Given the description of an element on the screen output the (x, y) to click on. 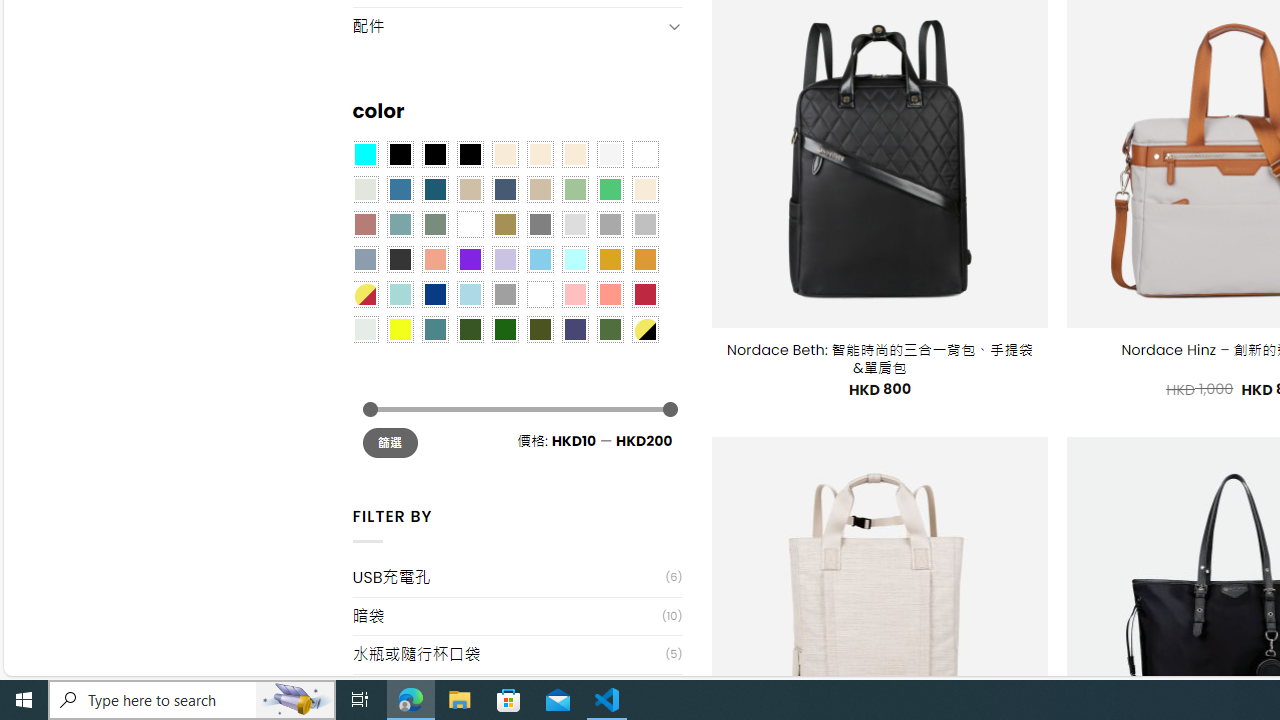
Dull Nickle (364, 329)
